Given the description of an element on the screen output the (x, y) to click on. 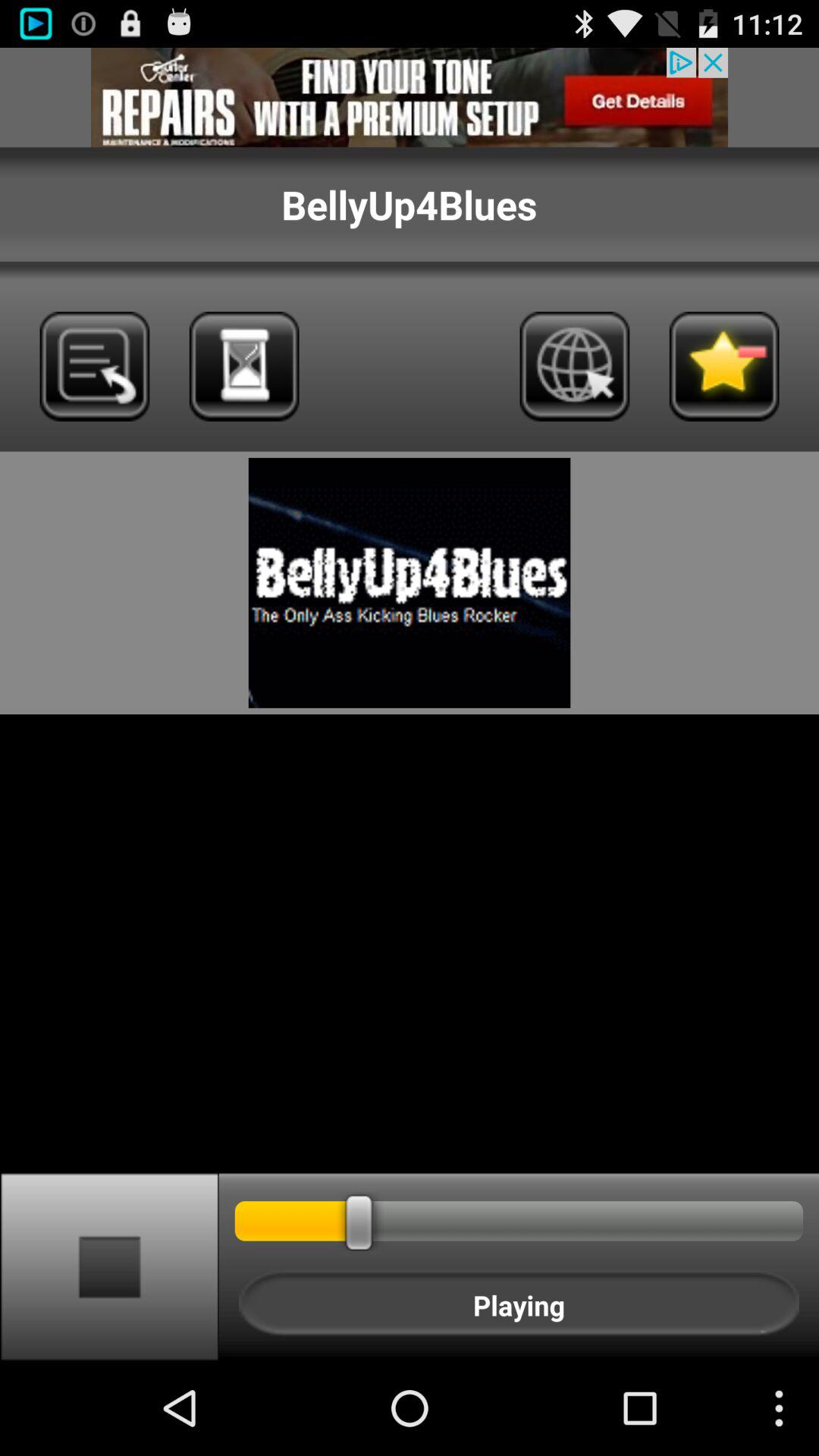
remove from favourites (724, 366)
